Given the description of an element on the screen output the (x, y) to click on. 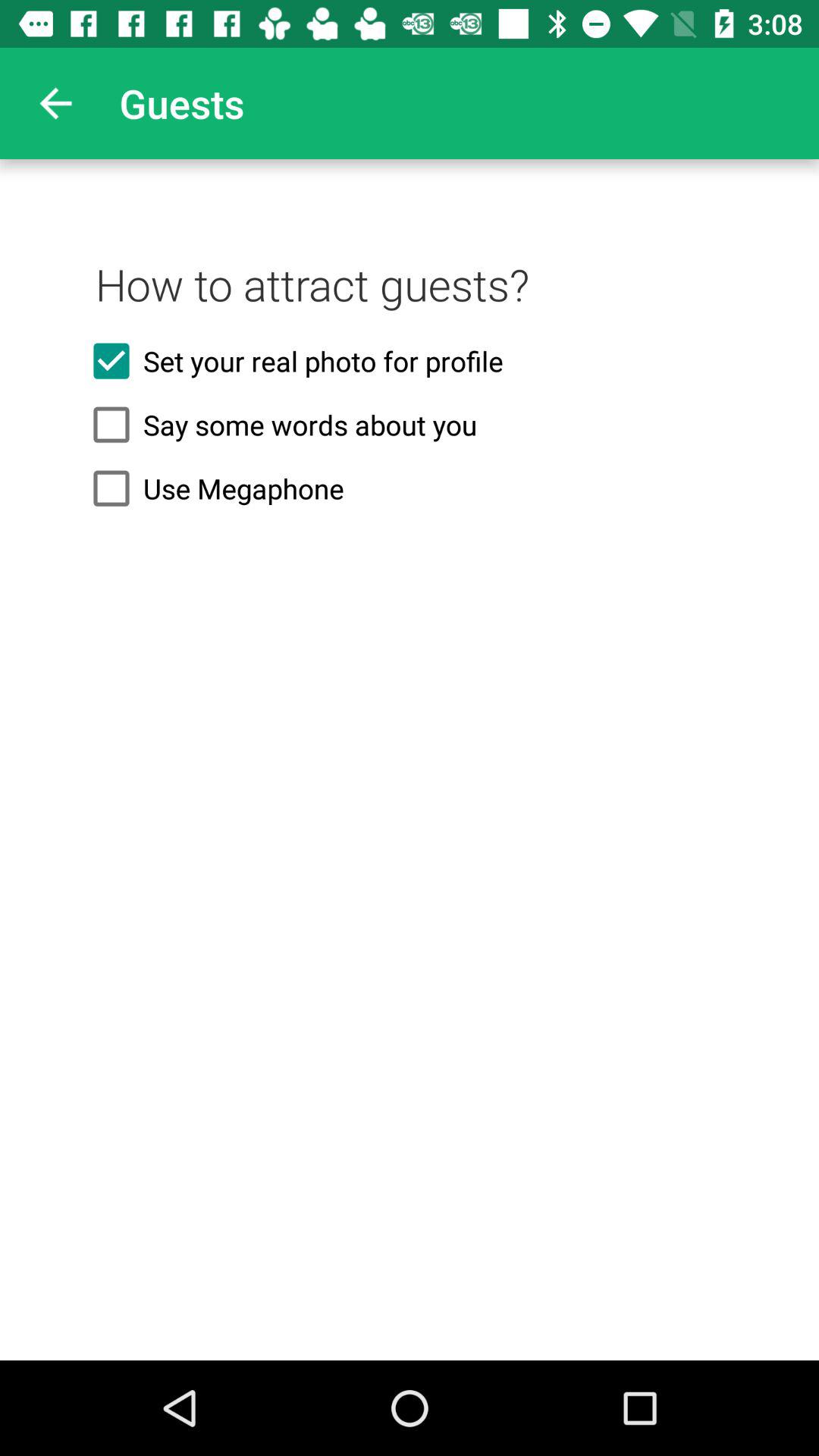
tap the use megaphone item (409, 488)
